Given the description of an element on the screen output the (x, y) to click on. 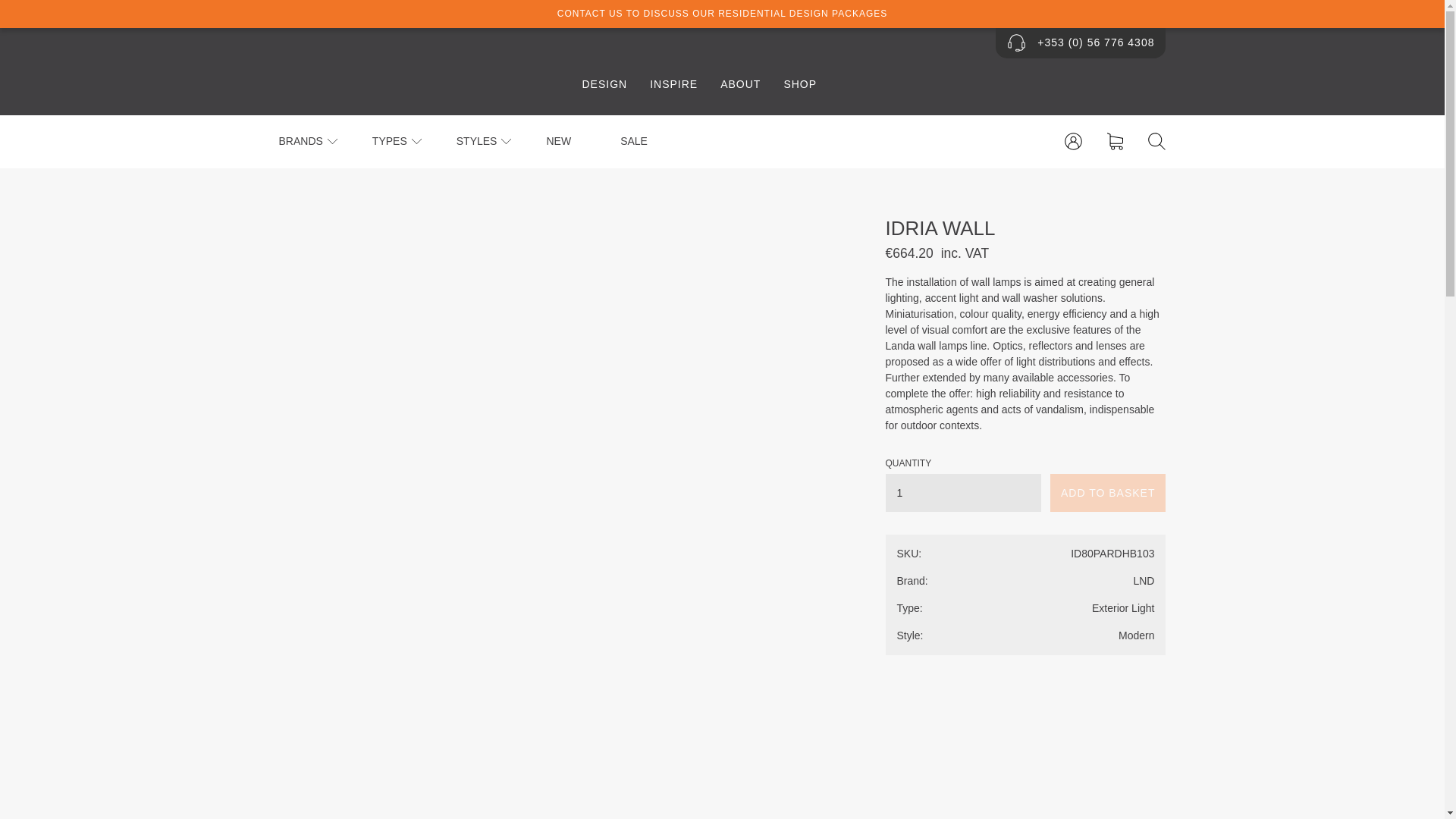
Edit your account (1071, 140)
SHOP (799, 84)
1 (963, 492)
View your shopping cart (1114, 140)
